Given the description of an element on the screen output the (x, y) to click on. 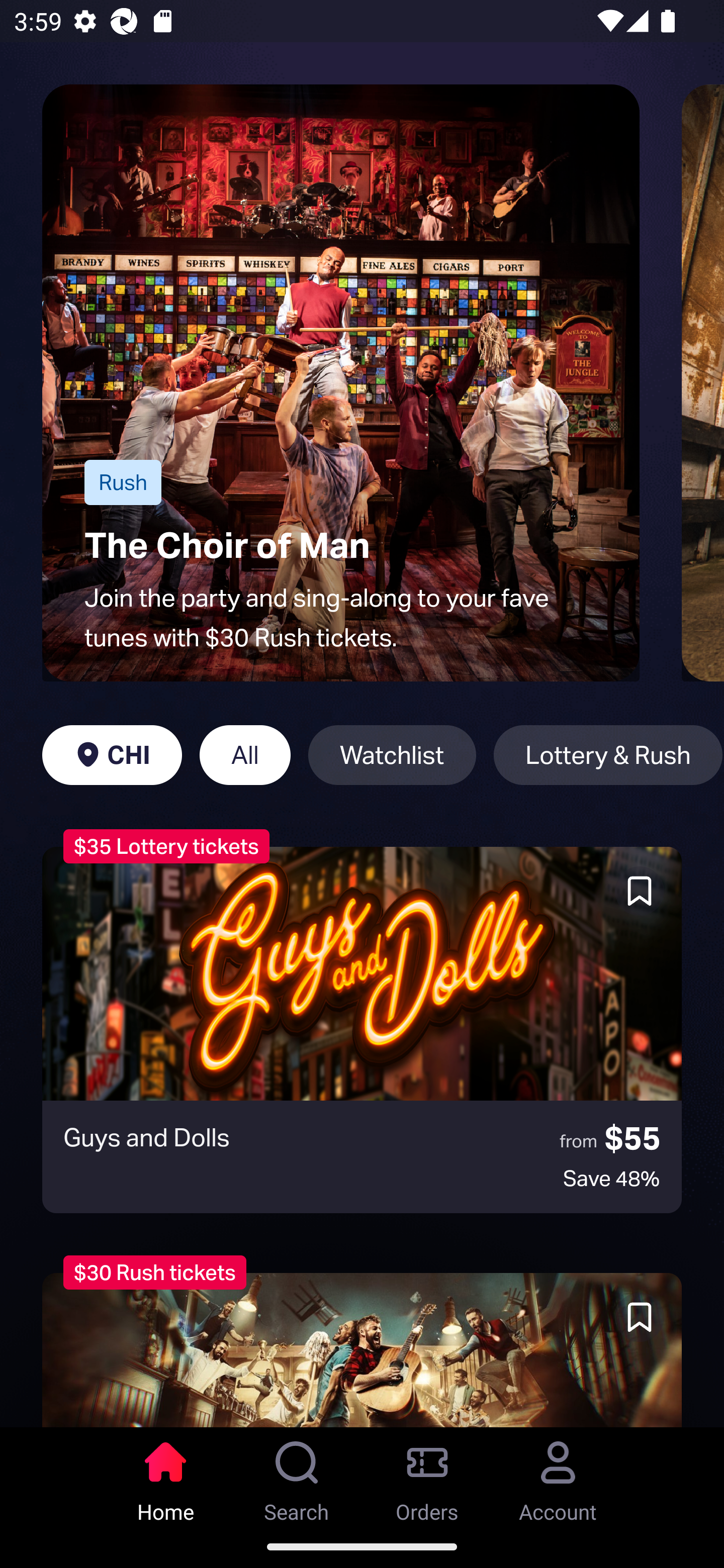
CHI (111, 754)
All (244, 754)
Watchlist (392, 754)
Lottery & Rush (607, 754)
Guys and Dolls from $55 Save 48% (361, 1029)
Search (296, 1475)
Orders (427, 1475)
Account (558, 1475)
